Given the description of an element on the screen output the (x, y) to click on. 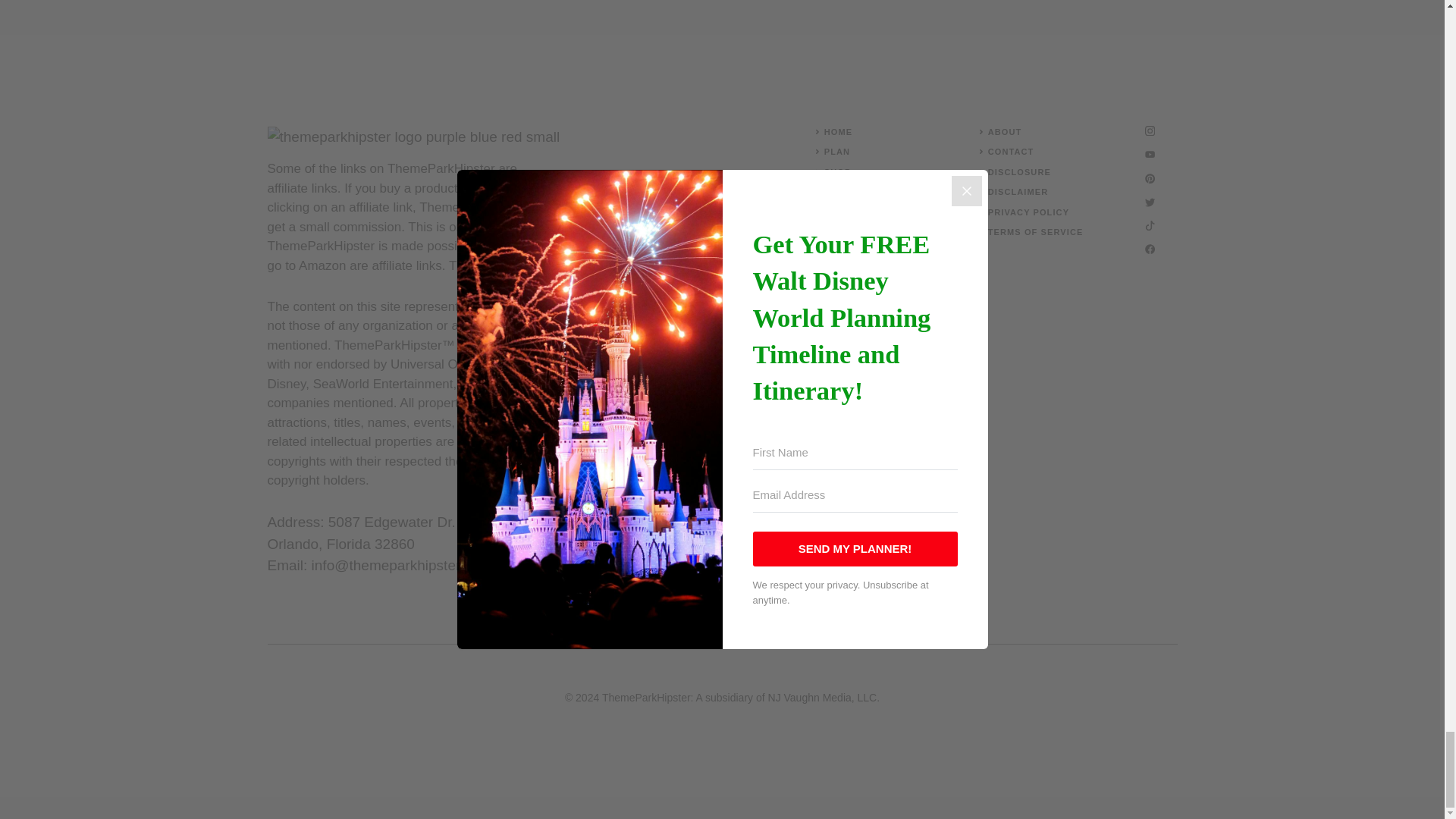
themeparkhipster logo purple blue red small (412, 137)
